Given the description of an element on the screen output the (x, y) to click on. 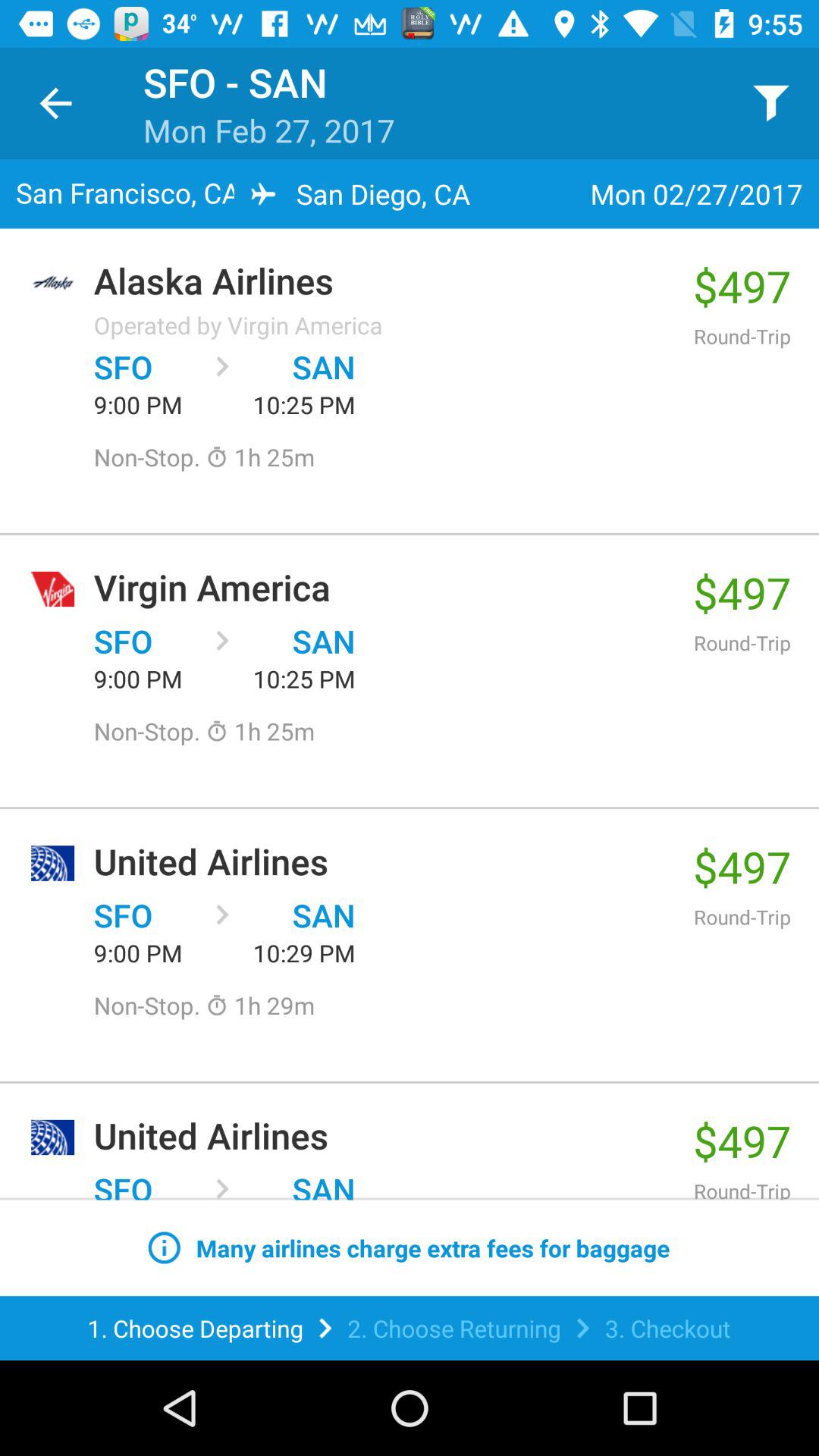
choose the icon above the san francisco, ca (55, 103)
